Given the description of an element on the screen output the (x, y) to click on. 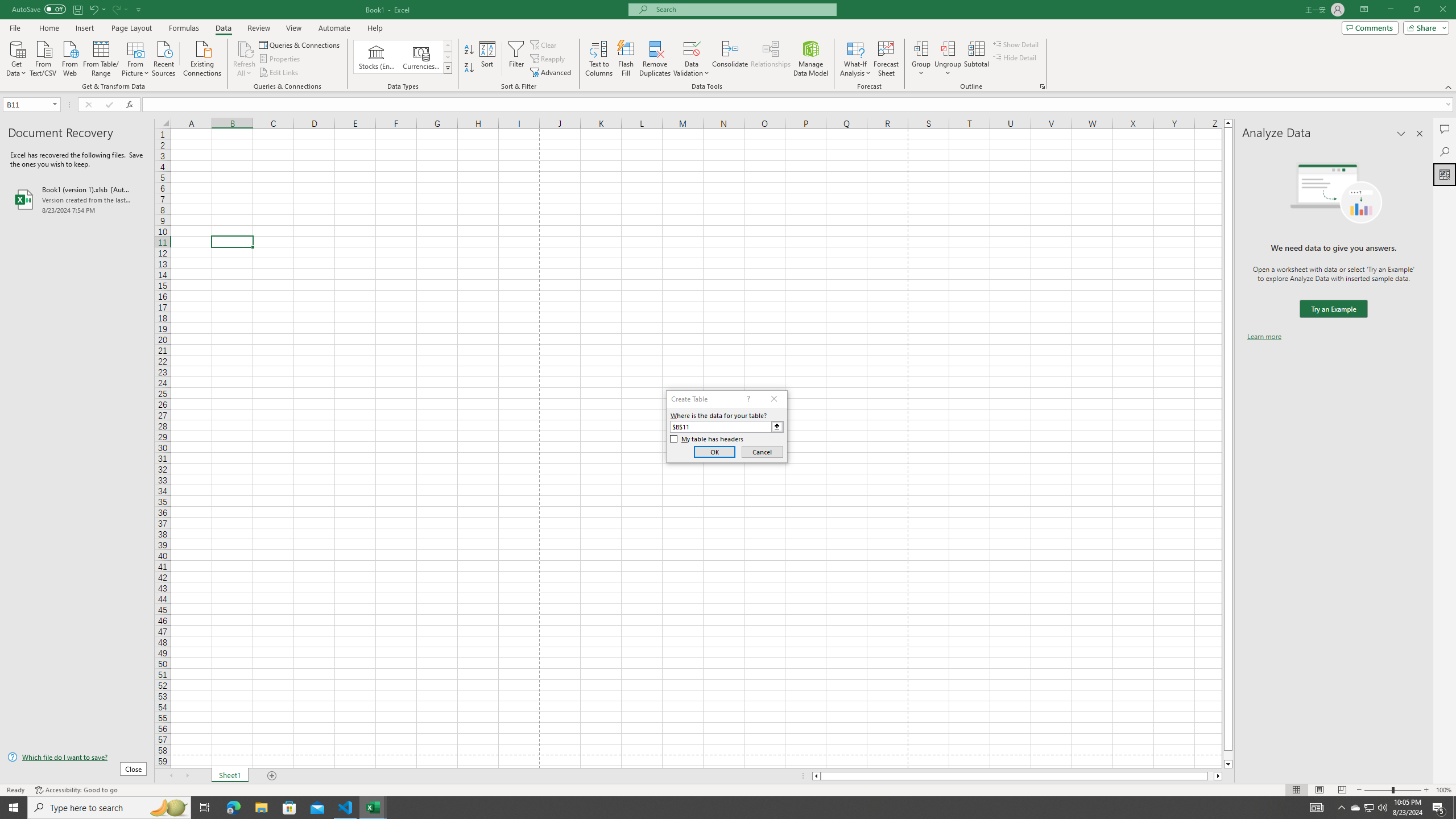
Add Sheet (272, 775)
Subtotal (976, 58)
System (6, 6)
AutoSave (38, 9)
File Tab (15, 27)
Group... (921, 58)
Show Detail (1016, 44)
Line down (1228, 764)
Review (258, 28)
Scroll Left (171, 775)
Zoom (1392, 790)
Ungroup... (947, 58)
From Web (69, 57)
Clear (544, 44)
